Given the description of an element on the screen output the (x, y) to click on. 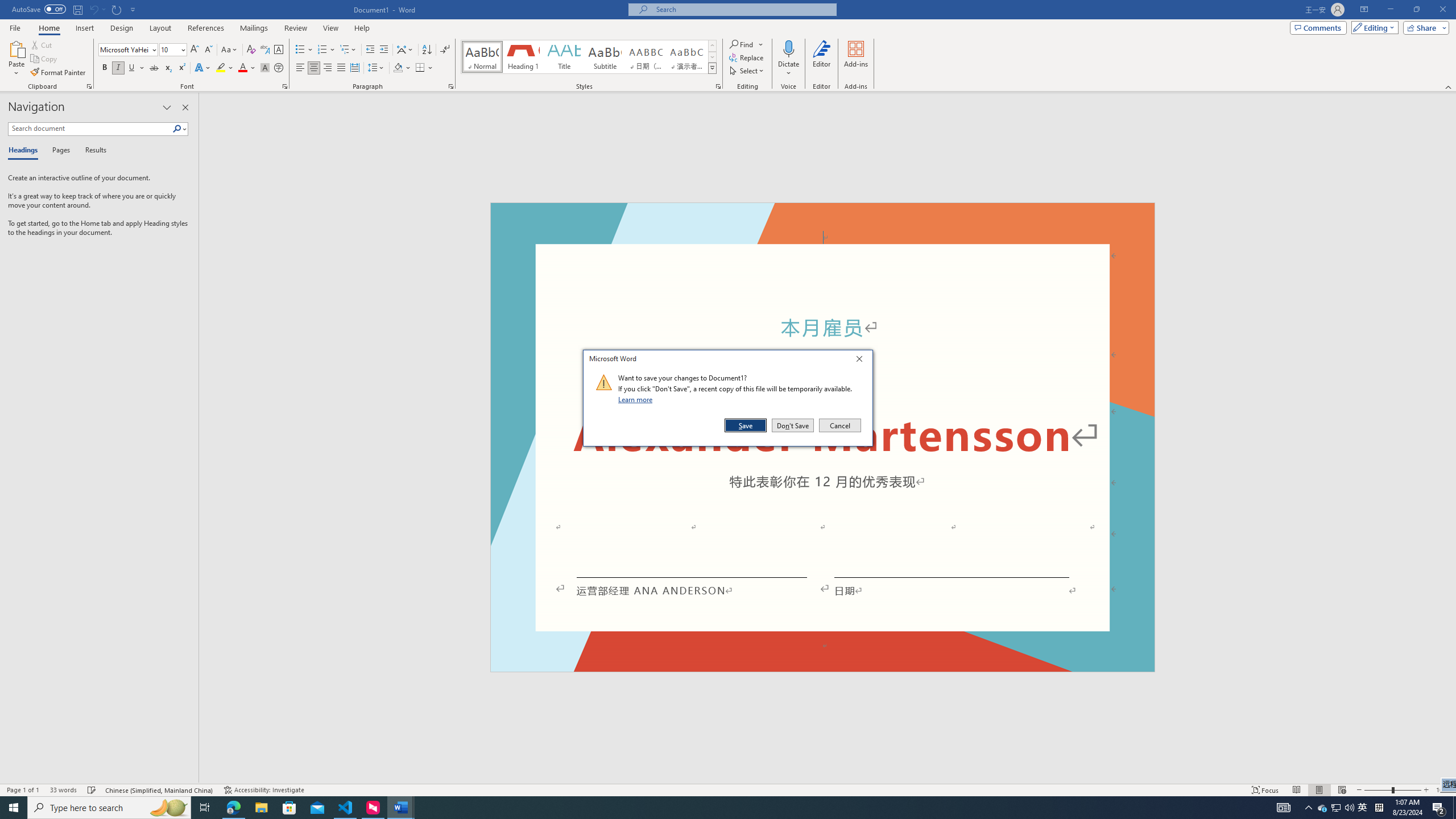
Learn more (1335, 807)
Search highlights icon opens search home window (636, 399)
